Given the description of an element on the screen output the (x, y) to click on. 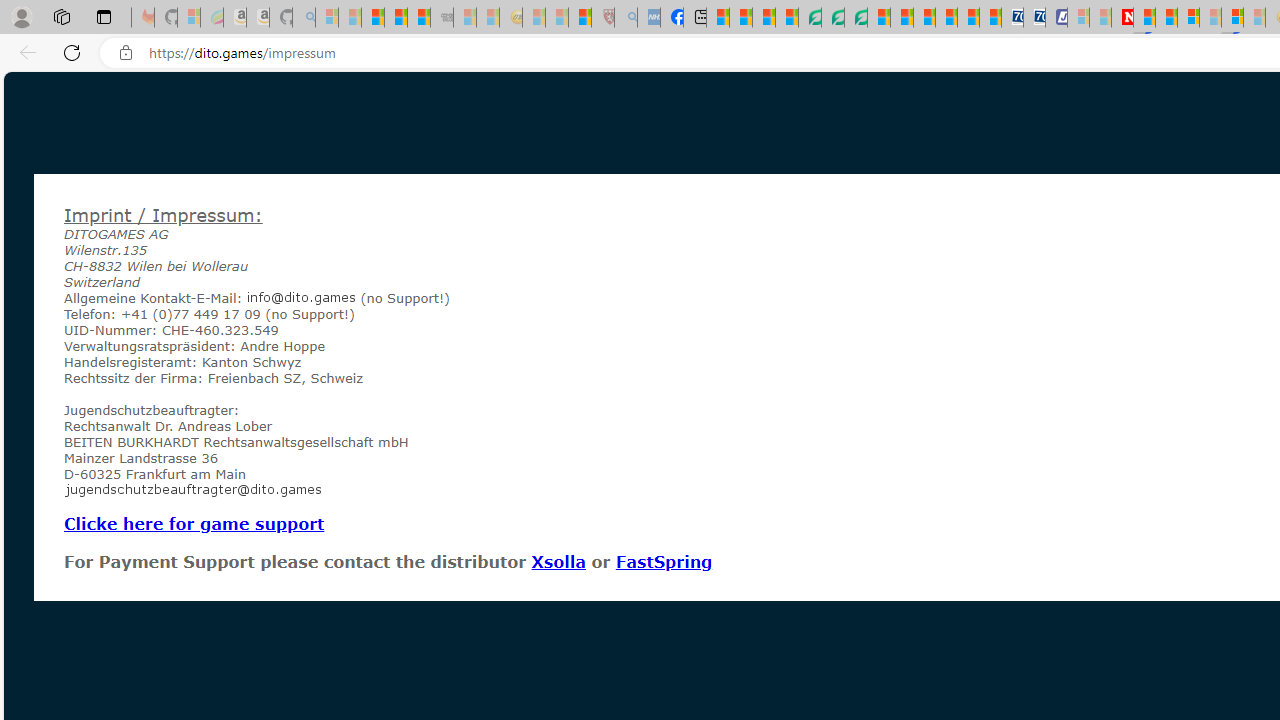
Microsoft Word - consumer-privacy address update 2.2021 (855, 17)
FastSpring (663, 561)
The Weather Channel - MSN (372, 17)
